Given the description of an element on the screen output the (x, y) to click on. 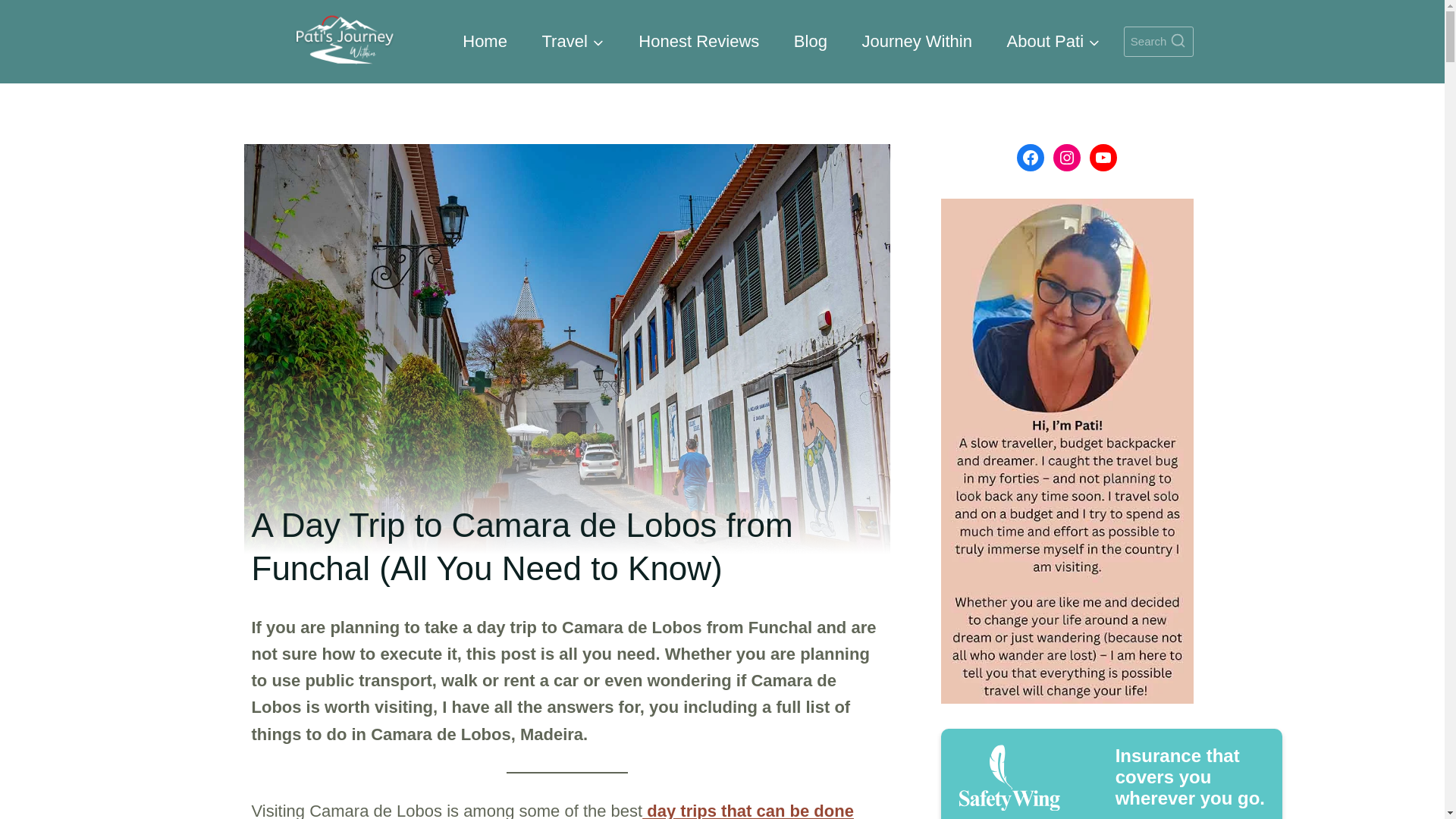
Honest Reviews (699, 41)
Journey Within (916, 41)
Travel (572, 41)
day trips that can be done from Funchal. (552, 810)
Home (484, 41)
About Pati (1053, 41)
Search (1158, 41)
Blog (810, 41)
